Given the description of an element on the screen output the (x, y) to click on. 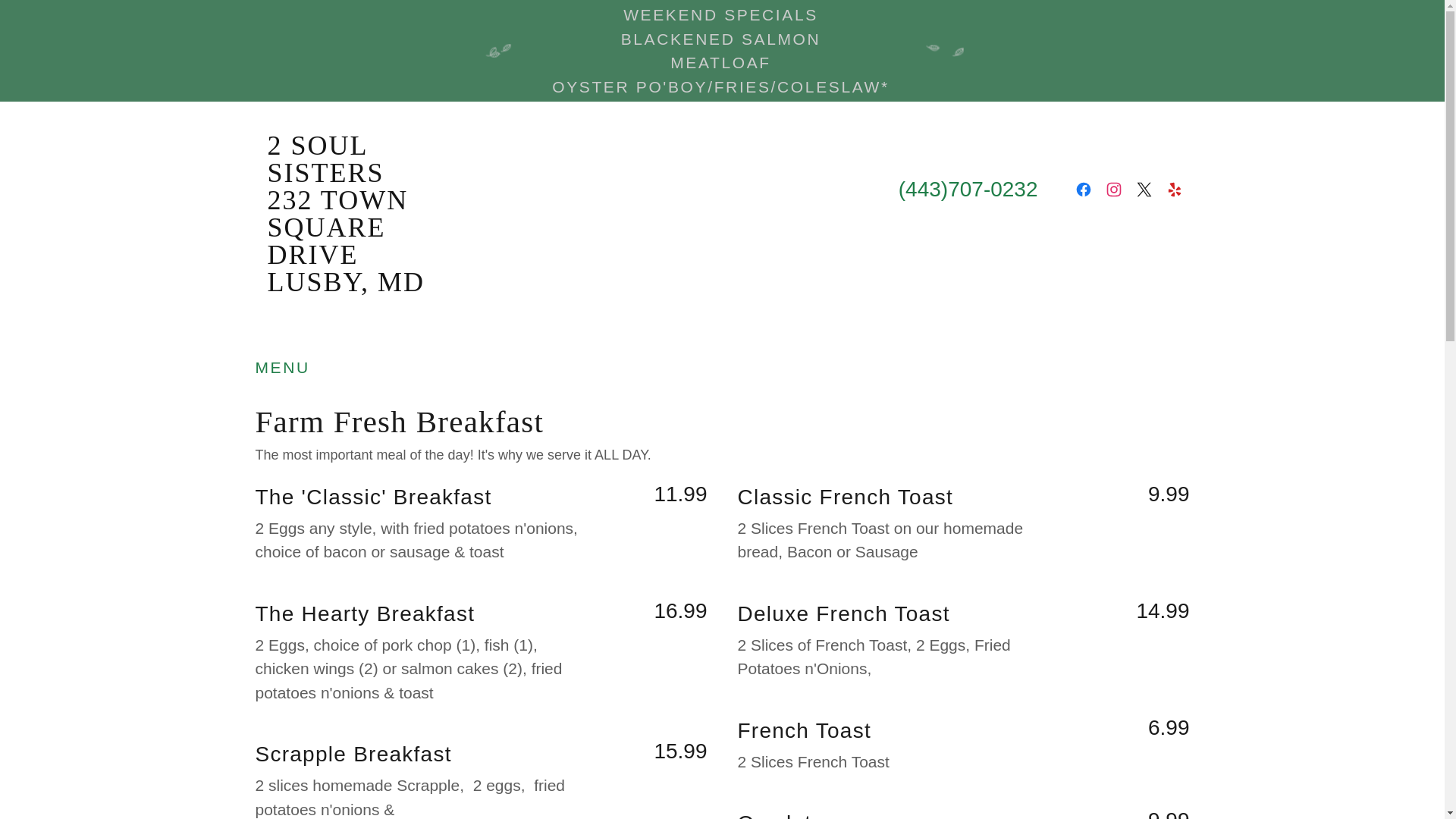
2 SOUL SISTERS
232 TOWN SQUARE DRIVE
LUSBY, MD Element type: text (371, 285)
(443)707-0232 Element type: text (968, 188)
